Given the description of an element on the screen output the (x, y) to click on. 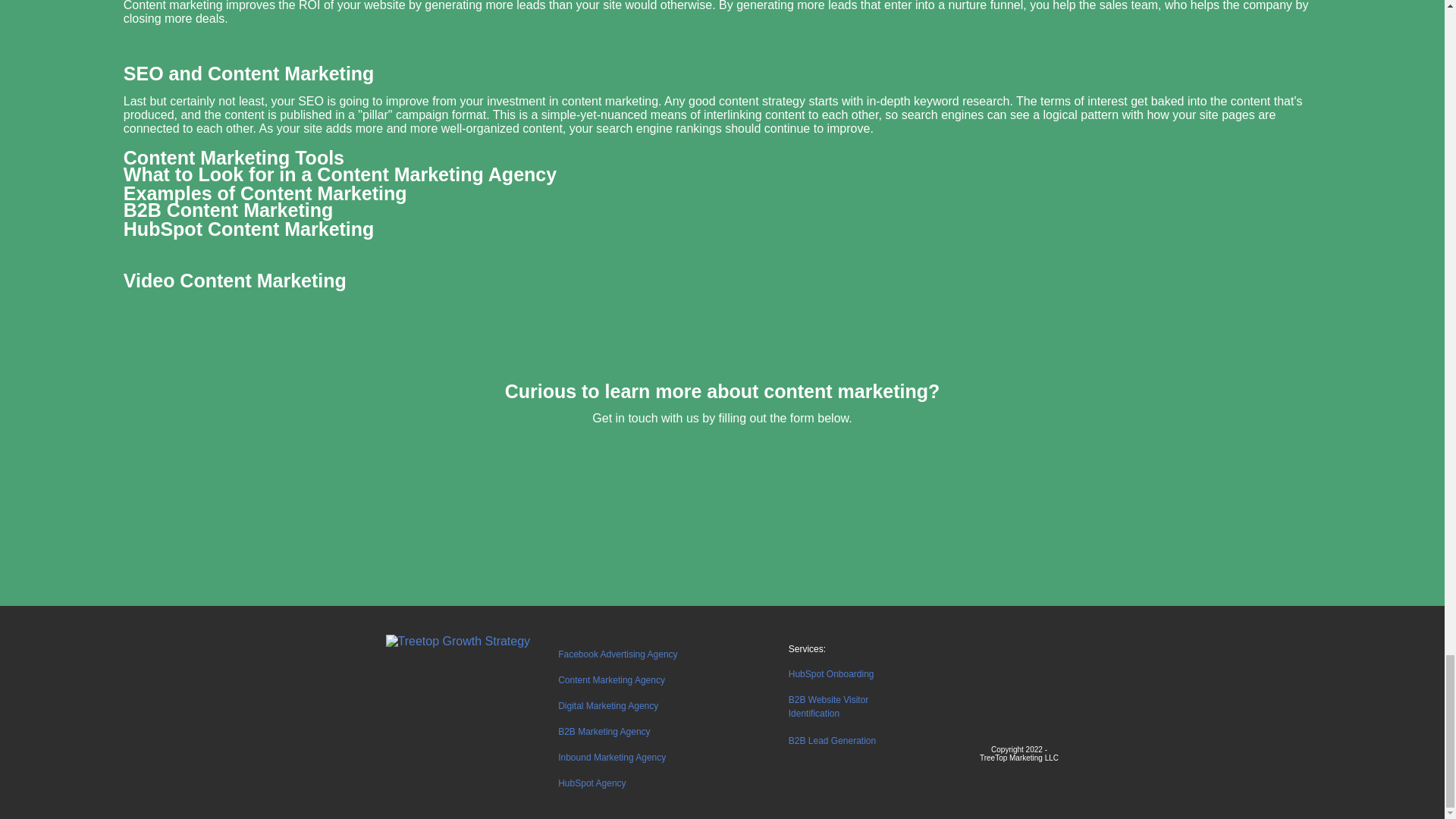
Digital Marketing Agency (607, 704)
Content Marketing Agency (611, 678)
B2B Website Visitor Identification (829, 705)
Facebook Advertising Agency (617, 654)
B2B Marketing Agency (603, 730)
Inbound Marketing Agency (611, 756)
HubSpot Onboarding (832, 672)
HubSpot Agency (591, 781)
Treetop Growth Strategy (457, 641)
B2B Lead Generation (832, 740)
